Given the description of an element on the screen output the (x, y) to click on. 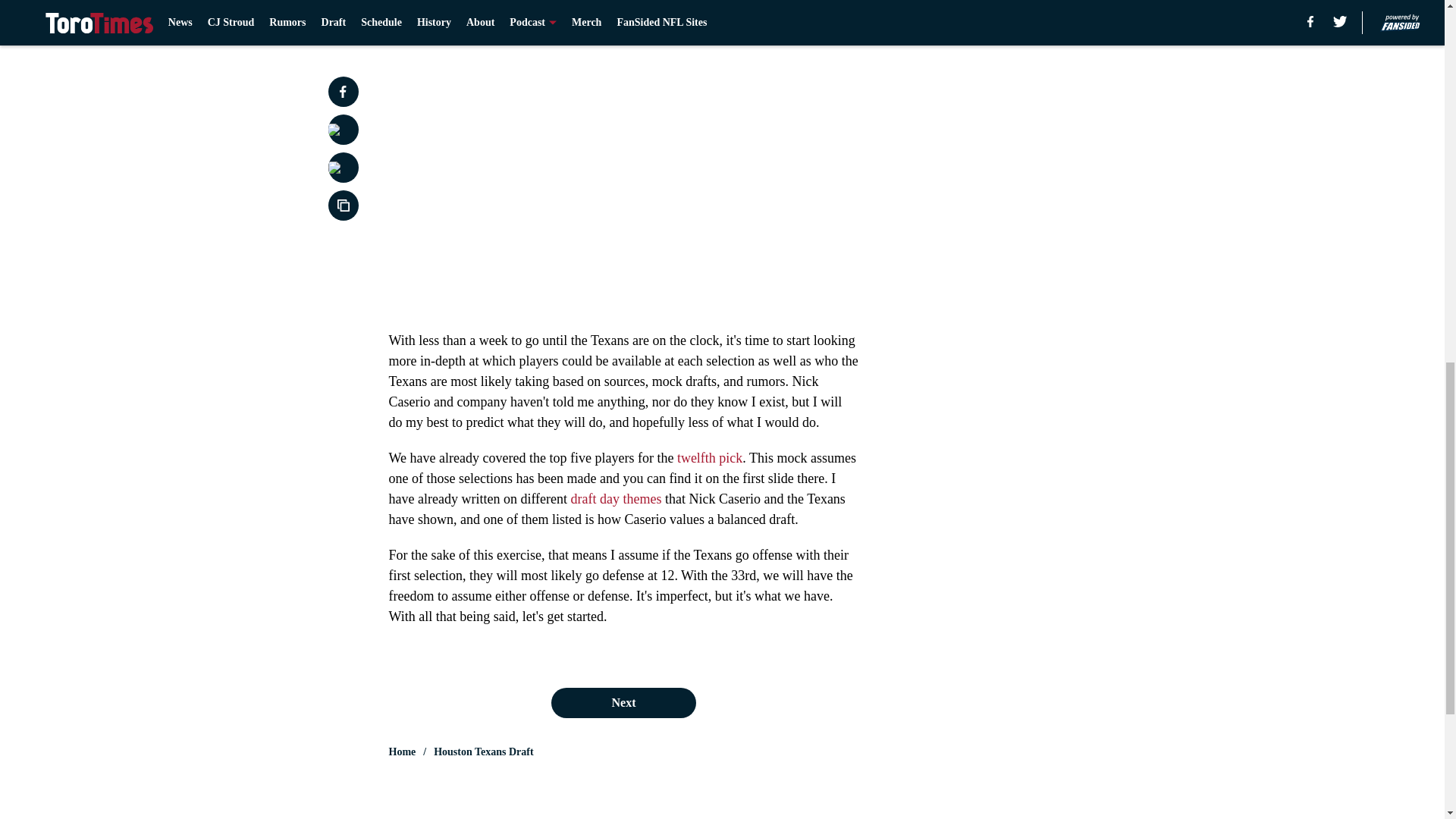
draft day themes (616, 498)
Next (813, 20)
twelfth pick (709, 458)
Prev (433, 20)
Houston Texans Draft (482, 752)
Next (622, 702)
Home (401, 752)
